Given the description of an element on the screen output the (x, y) to click on. 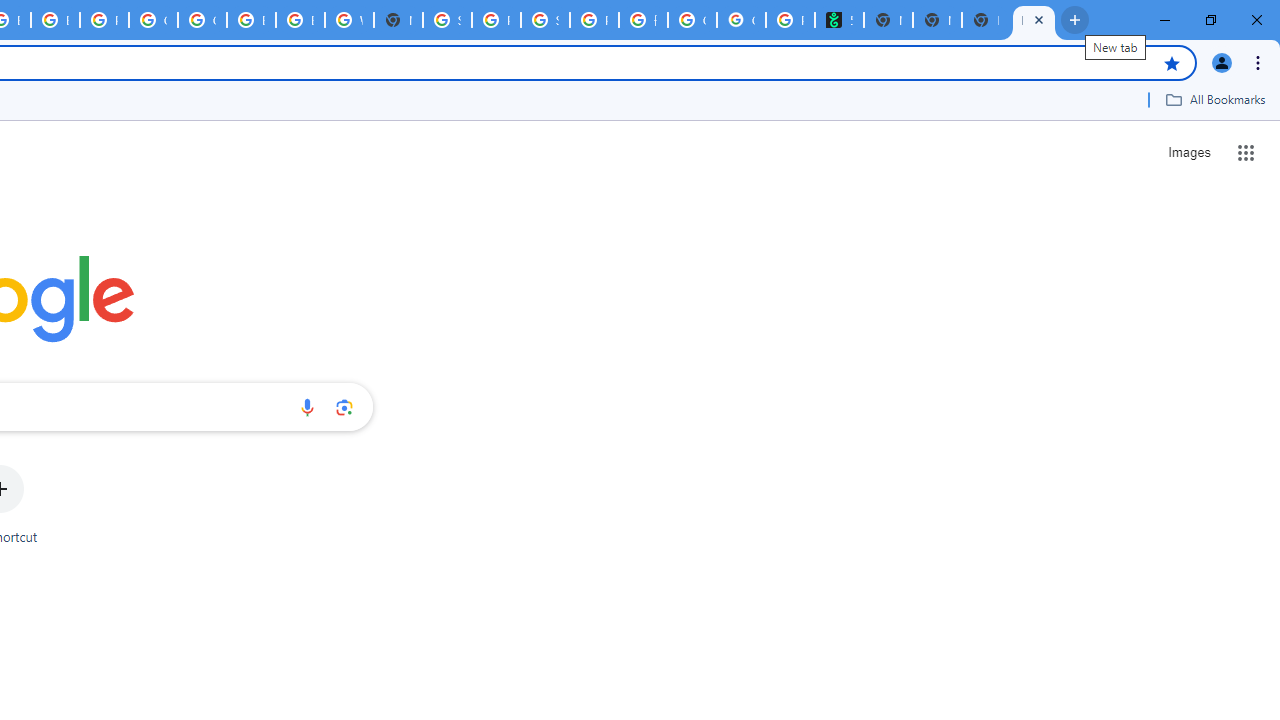
All Bookmarks (1215, 99)
Search by voice (307, 407)
Sign in - Google Accounts (447, 20)
Google Cloud Platform (201, 20)
Browse Chrome as a guest - Computer - Google Chrome Help (55, 20)
